Given the description of an element on the screen output the (x, y) to click on. 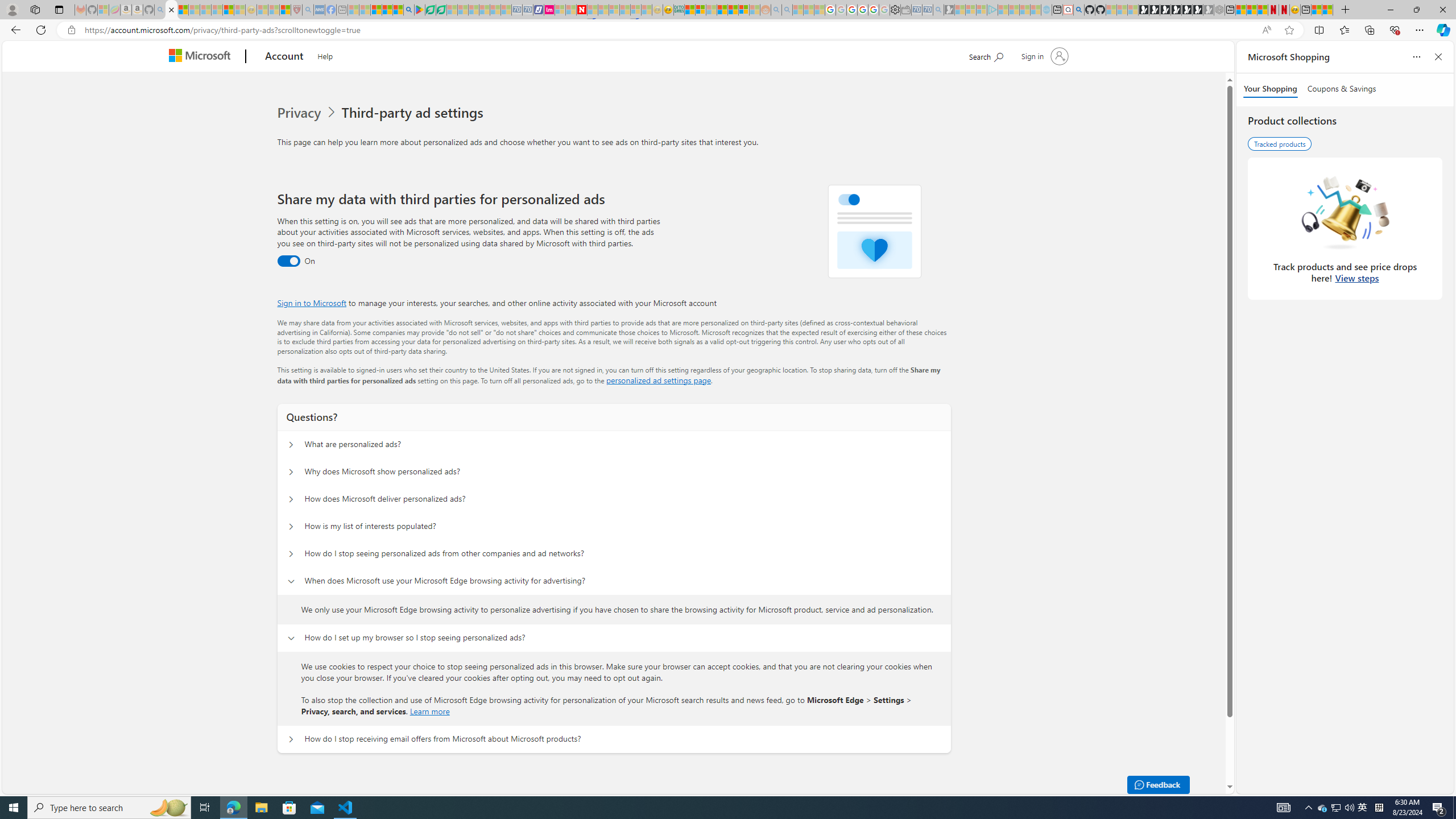
The Weather Channel - MSN - Sleeping (194, 9)
Microsoft Word - consumer-privacy address update 2.2021 (440, 9)
Kinda Frugal - MSN (733, 9)
Cheap Hotels - Save70.com - Sleeping (527, 9)
Microsoft (202, 56)
Sign in to Microsoft (311, 302)
